Given the description of an element on the screen output the (x, y) to click on. 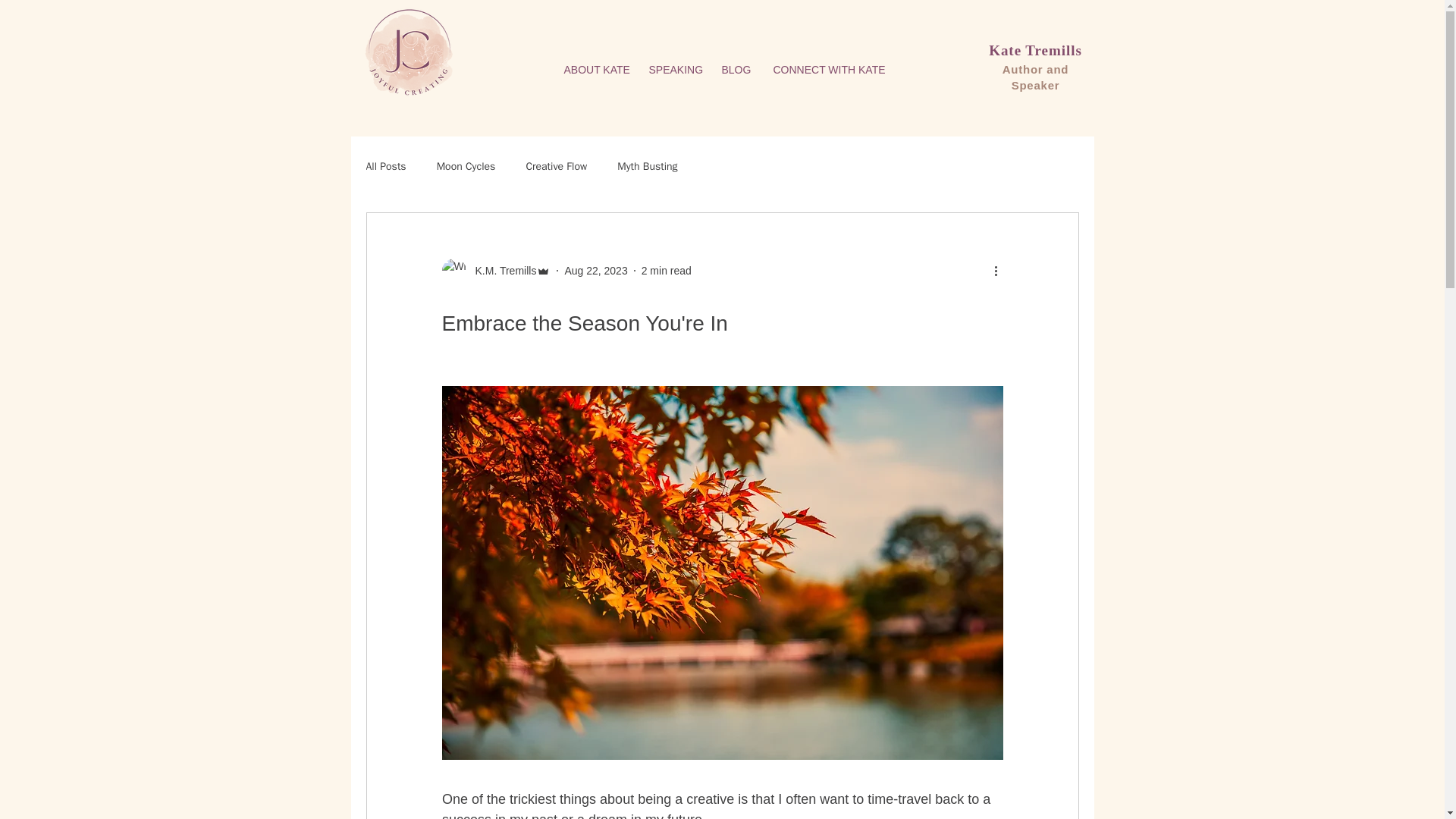
Creative Flow (555, 166)
Moon Cycles (466, 166)
2 min read (666, 269)
SPEAKING (673, 69)
CONNECT WITH KATE (826, 69)
Aug 22, 2023 (595, 269)
ABOUT KATE (594, 69)
BLOG (735, 69)
K.M. Tremills (500, 270)
All Posts (385, 166)
Myth Busting (647, 166)
K.M. Tremills (495, 270)
Kate Tremills (1034, 50)
